Given the description of an element on the screen output the (x, y) to click on. 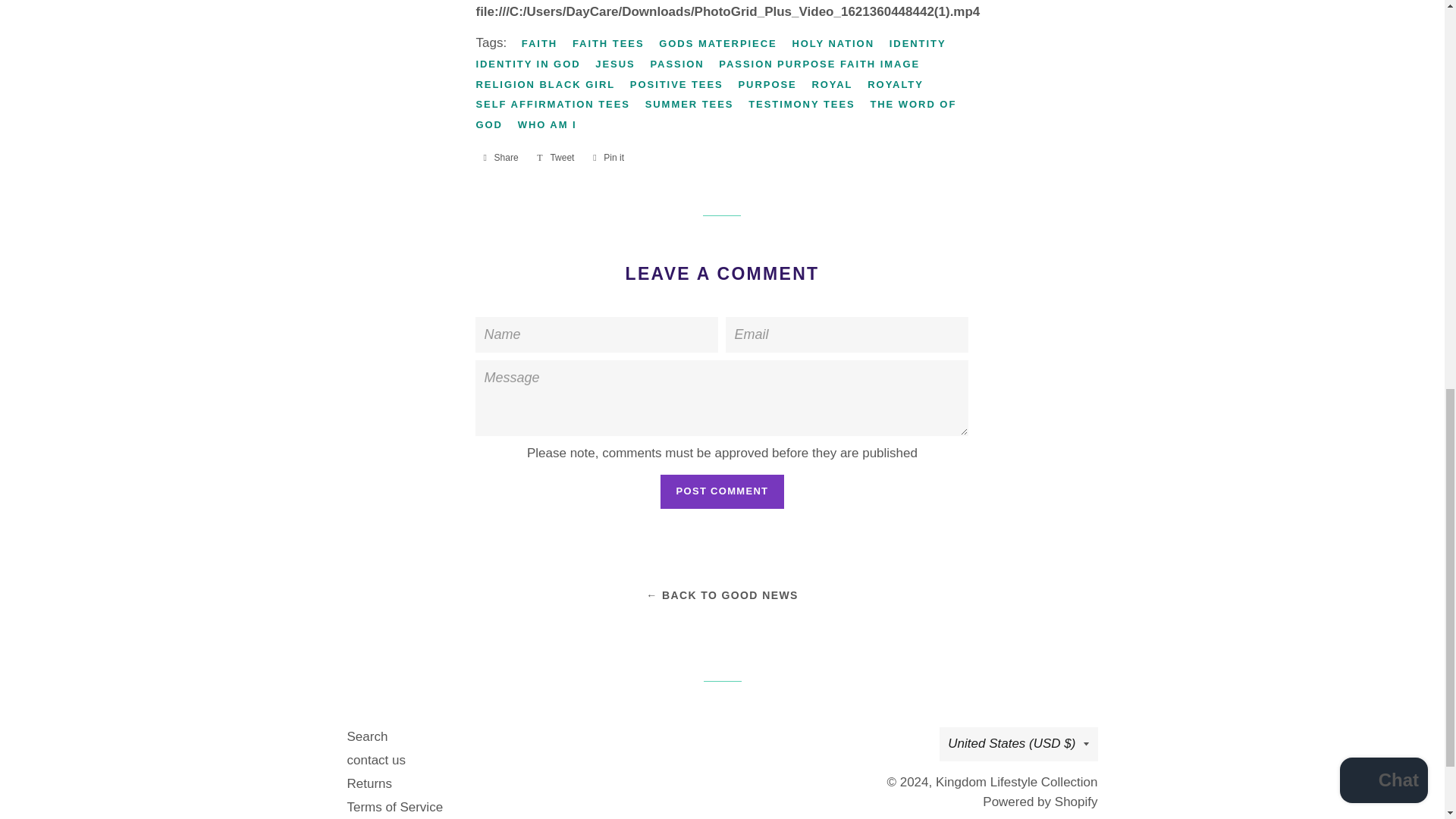
GODS MATERPIECE (723, 43)
HOLY NATION (838, 43)
FAITH (545, 43)
Tweet on Twitter (554, 157)
Pin on Pinterest (608, 157)
Post comment (722, 491)
Share on Facebook (500, 157)
FAITH TEES (614, 43)
